Given the description of an element on the screen output the (x, y) to click on. 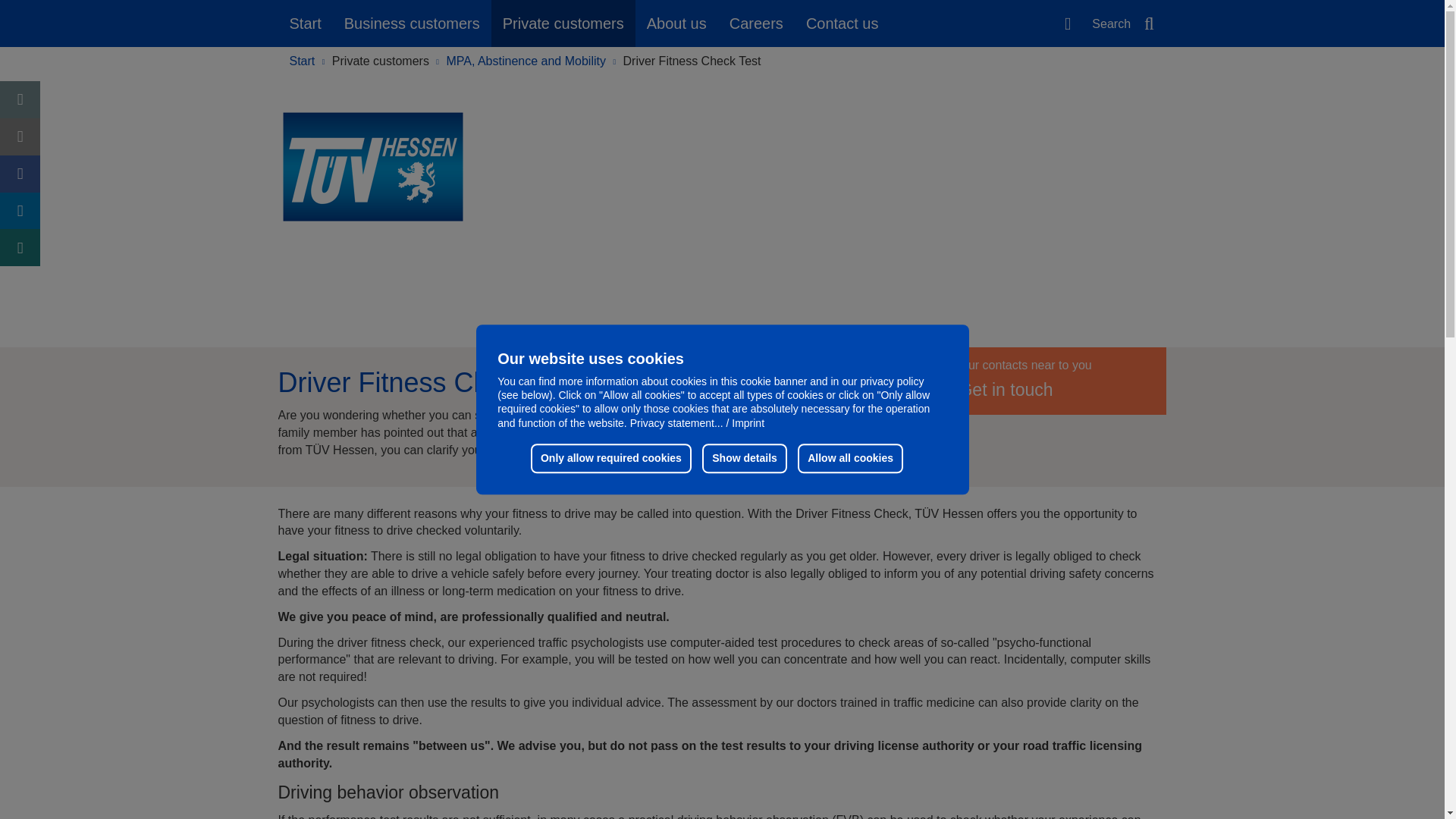
Show details (744, 458)
Allow all cookies (849, 458)
Imprint (744, 422)
Start (304, 23)
Only allow required cookies (611, 458)
Search (1123, 22)
Privacy statement... (676, 422)
Privacy statement... (676, 422)
Imprint (744, 422)
